Given the description of an element on the screen output the (x, y) to click on. 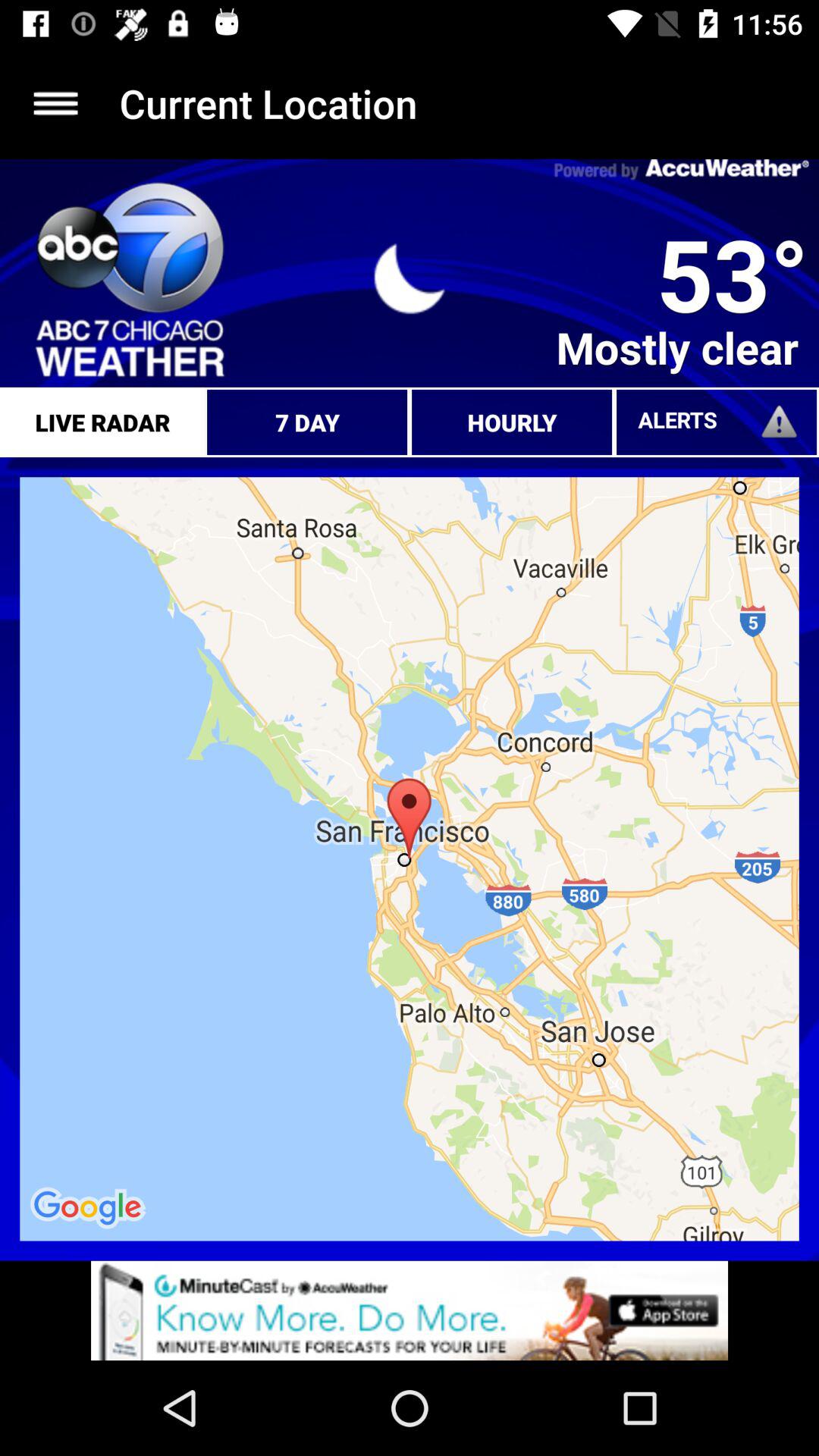
option left to hourly (306, 422)
select google (89, 1208)
select hourly right to 7 day (511, 422)
click moon icon before 53 (409, 278)
